Given the description of an element on the screen output the (x, y) to click on. 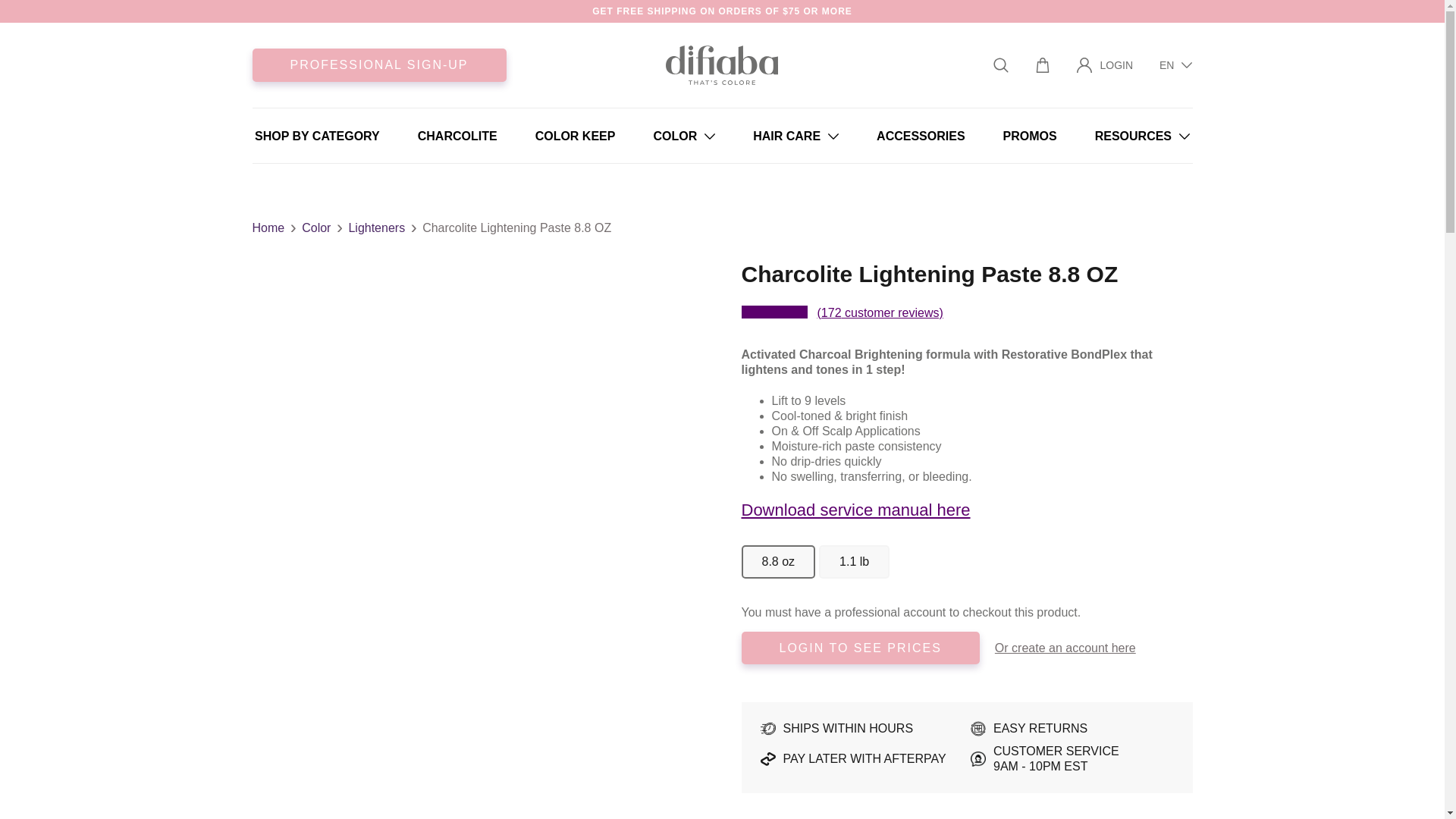
COLOR KEEP (575, 135)
PROMOS (1029, 135)
ACCESSORIES (920, 135)
HAIR CARE (795, 135)
EN (1175, 64)
COLOR (683, 135)
LOGIN (1104, 64)
RESOURCES (1141, 135)
SHOP BY CATEGORY (316, 135)
CHARCOLITE (457, 135)
